Given the description of an element on the screen output the (x, y) to click on. 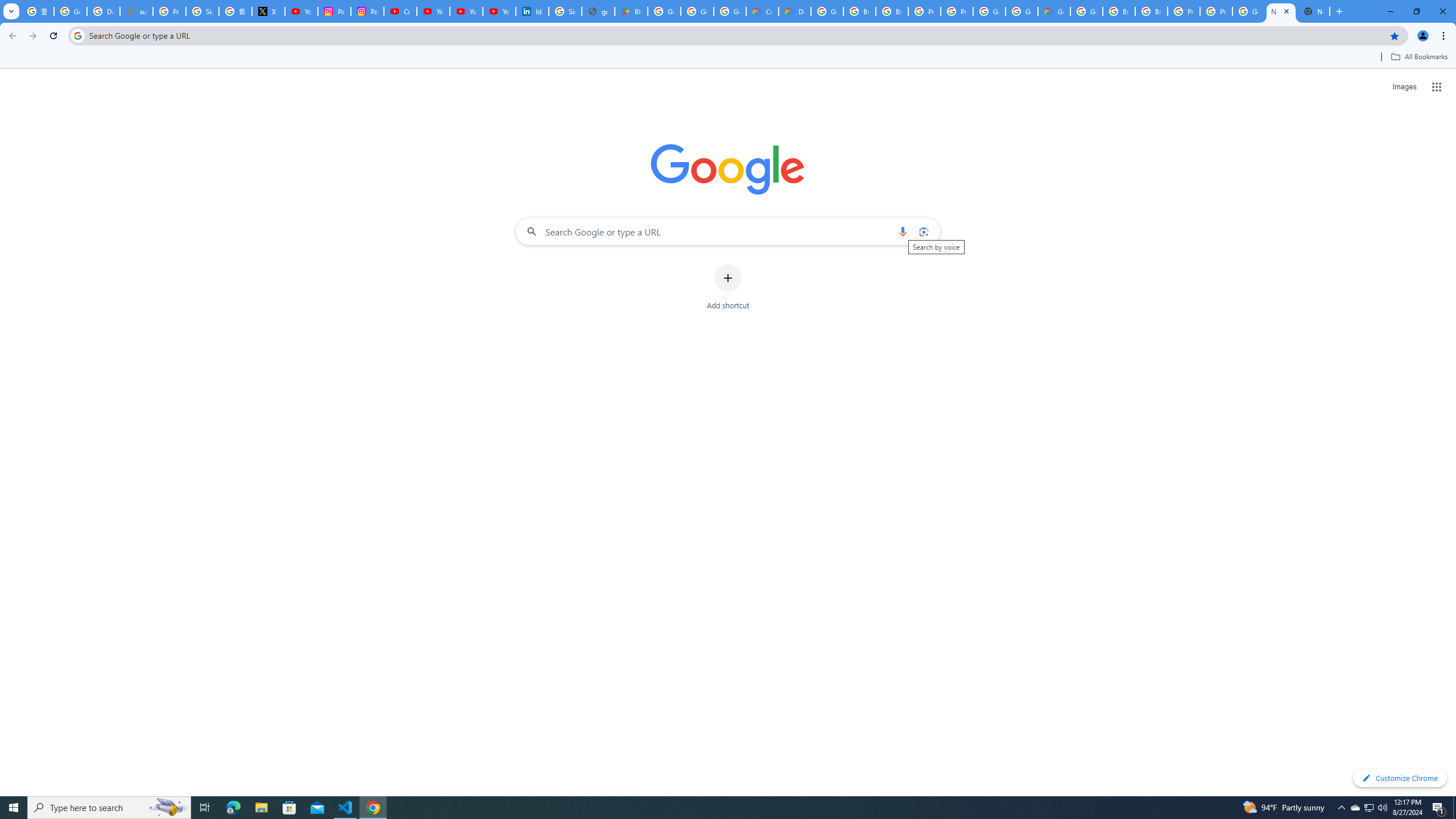
Google Cloud Platform (1248, 11)
